Given the description of an element on the screen output the (x, y) to click on. 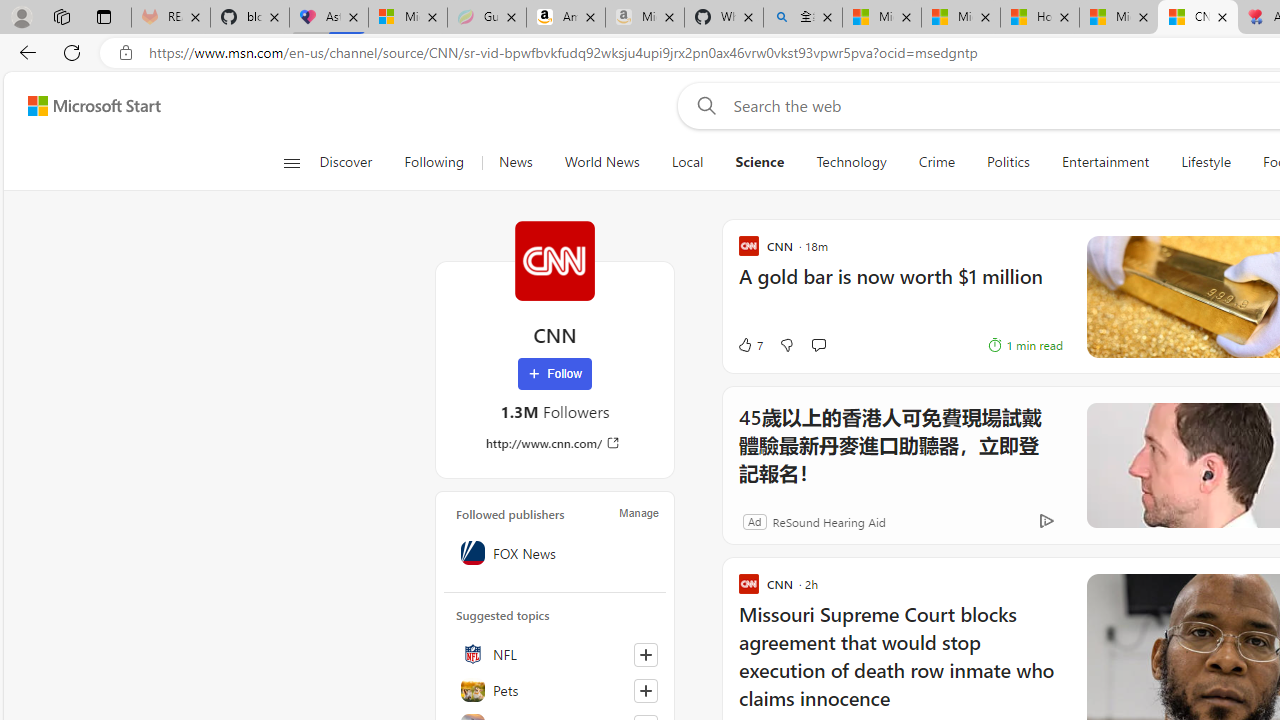
FOX News (555, 552)
ReSound Hearing Aid (828, 520)
Start the conversation (818, 344)
Technology (851, 162)
Technology (851, 162)
How I Got Rid of Microsoft Edge's Unnecessary Features (1040, 17)
Follow this topic (645, 690)
Follow this topic (645, 690)
CNN - MSN (1197, 17)
Skip to footer (82, 105)
